Given the description of an element on the screen output the (x, y) to click on. 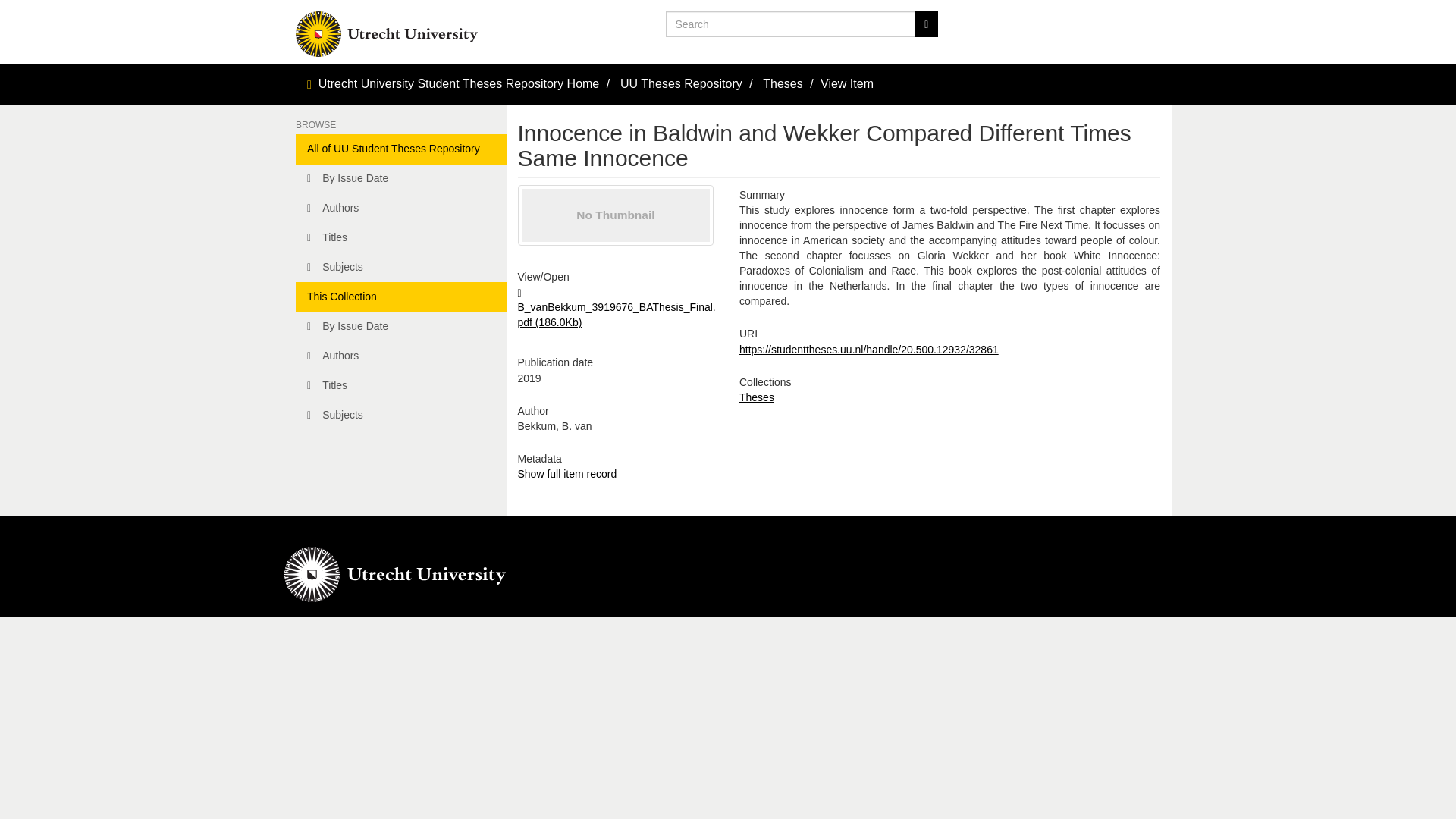
This Collection (400, 296)
Show full item record (565, 473)
Titles (400, 237)
By Issue Date (400, 178)
All of UU Student Theses Repository (400, 149)
UU Theses Repository (681, 83)
Authors (400, 356)
Authors (400, 208)
By Issue Date (400, 327)
Utrecht University Student Theses Repository Home (458, 83)
